Given the description of an element on the screen output the (x, y) to click on. 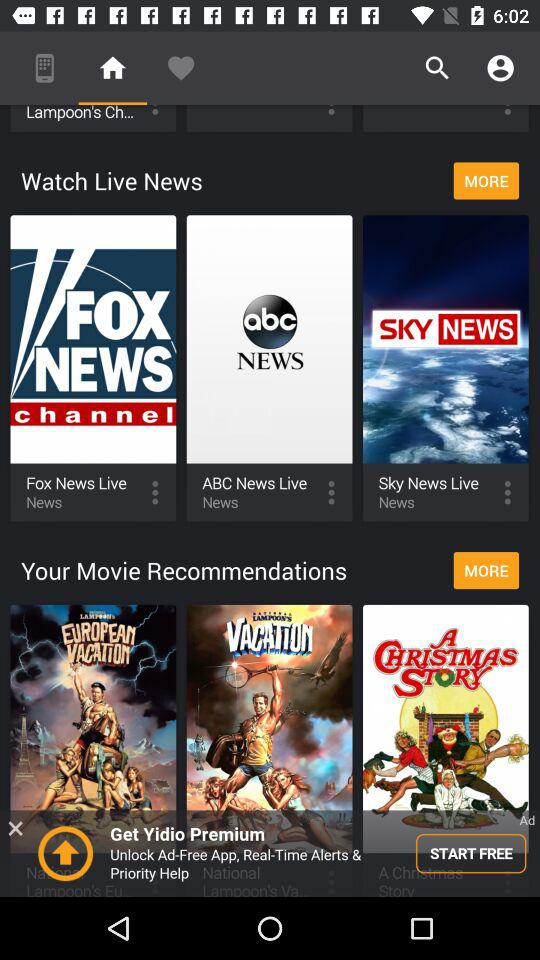
tap the icon below the more (270, 853)
